Given the description of an element on the screen output the (x, y) to click on. 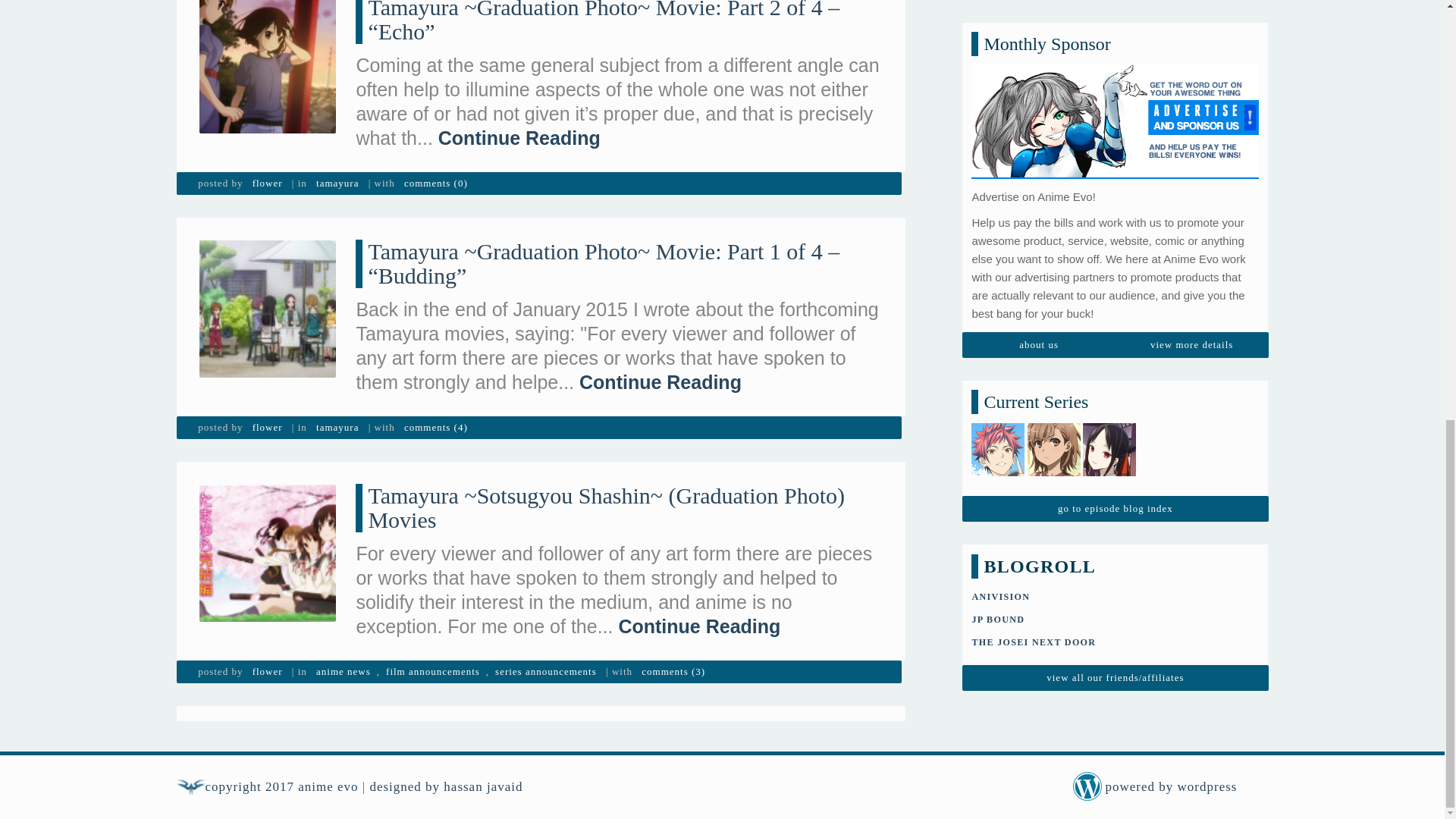
Continue Reading (660, 382)
Posts by Flower (267, 671)
tamayura (337, 182)
Posts by Flower (267, 427)
JP BOUND (998, 95)
THE JOSEI NEXT DOOR (1033, 118)
Great Anime Blog run by Dee! (1033, 118)
Posts by Flower (267, 182)
Continue Reading (518, 137)
ANIVISION (1000, 72)
flower (267, 427)
flower (267, 182)
